Given the description of an element on the screen output the (x, y) to click on. 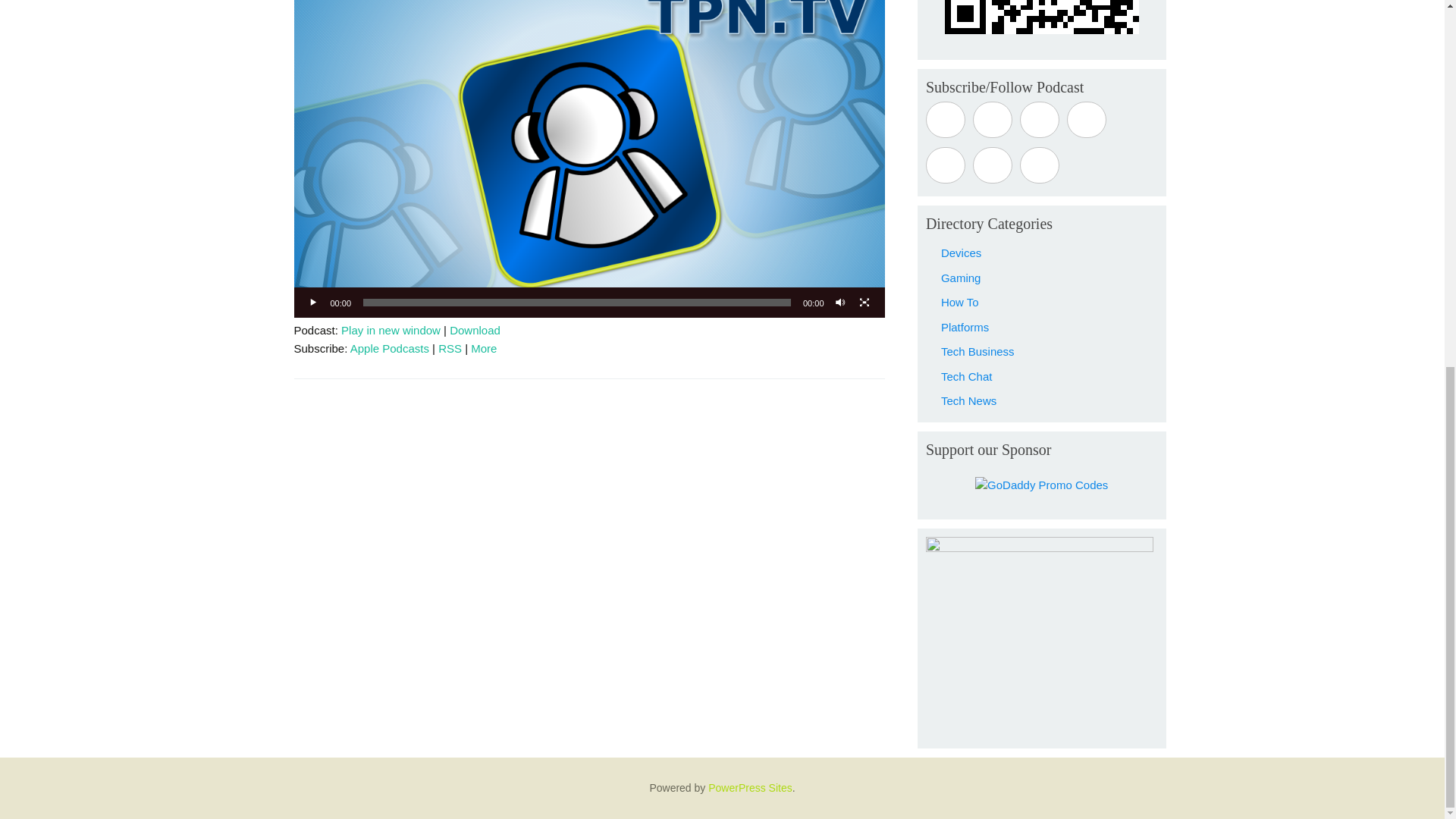
Play (313, 302)
Mute (839, 302)
Apple Podcasts (389, 348)
Subscribe on Apple Podcasts (945, 119)
Subscribe by Email (945, 165)
RSS (449, 348)
Download (474, 329)
Play in new window (390, 329)
More (483, 348)
Subscribe on Podcast Index (1086, 119)
Download (474, 329)
More (483, 348)
Subscribe on Android (991, 119)
Subscribe via RSS (449, 348)
Fullscreen (864, 302)
